Given the description of an element on the screen output the (x, y) to click on. 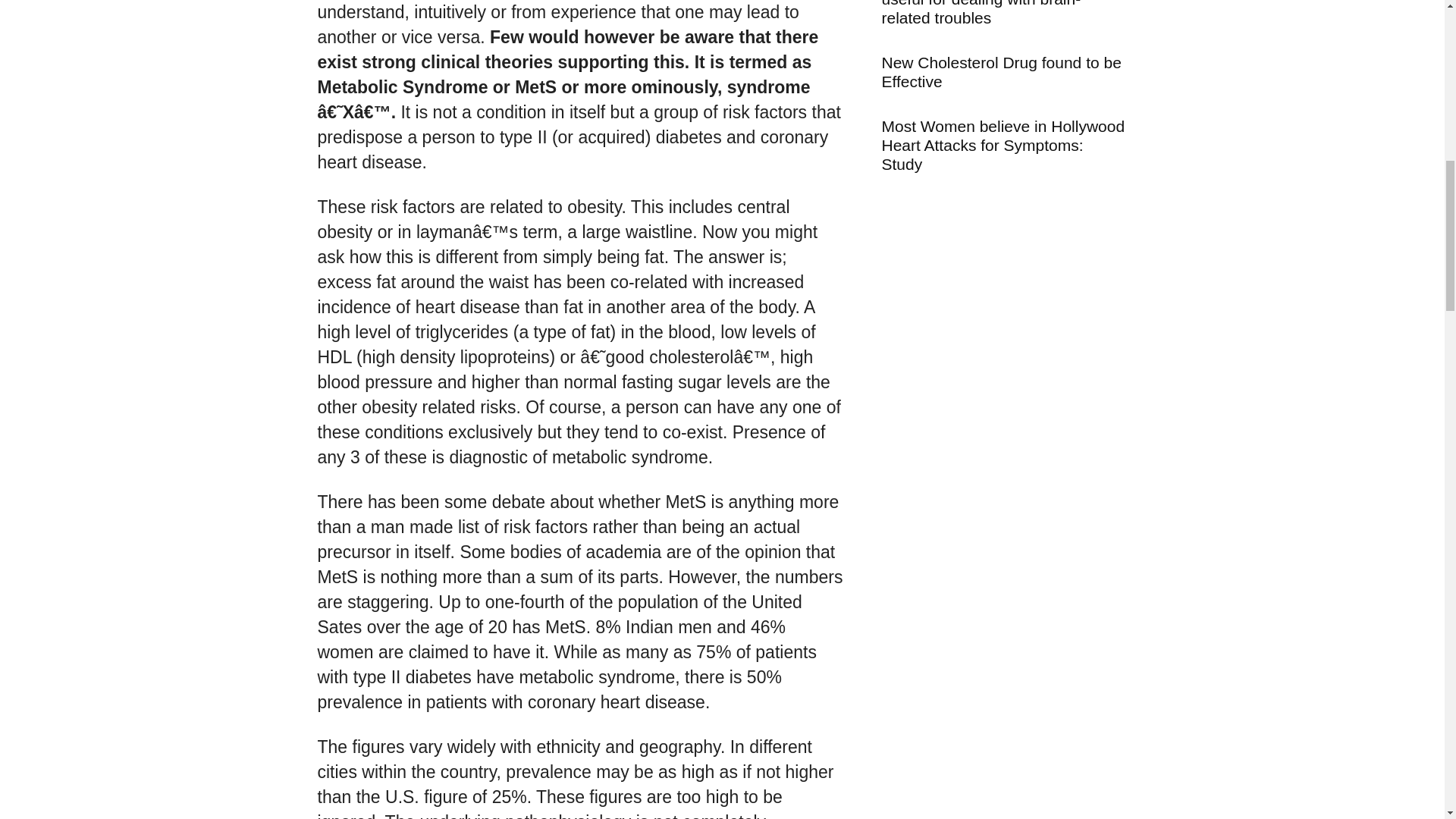
New Cholesterol Drug found to be Effective (1000, 72)
